Given the description of an element on the screen output the (x, y) to click on. 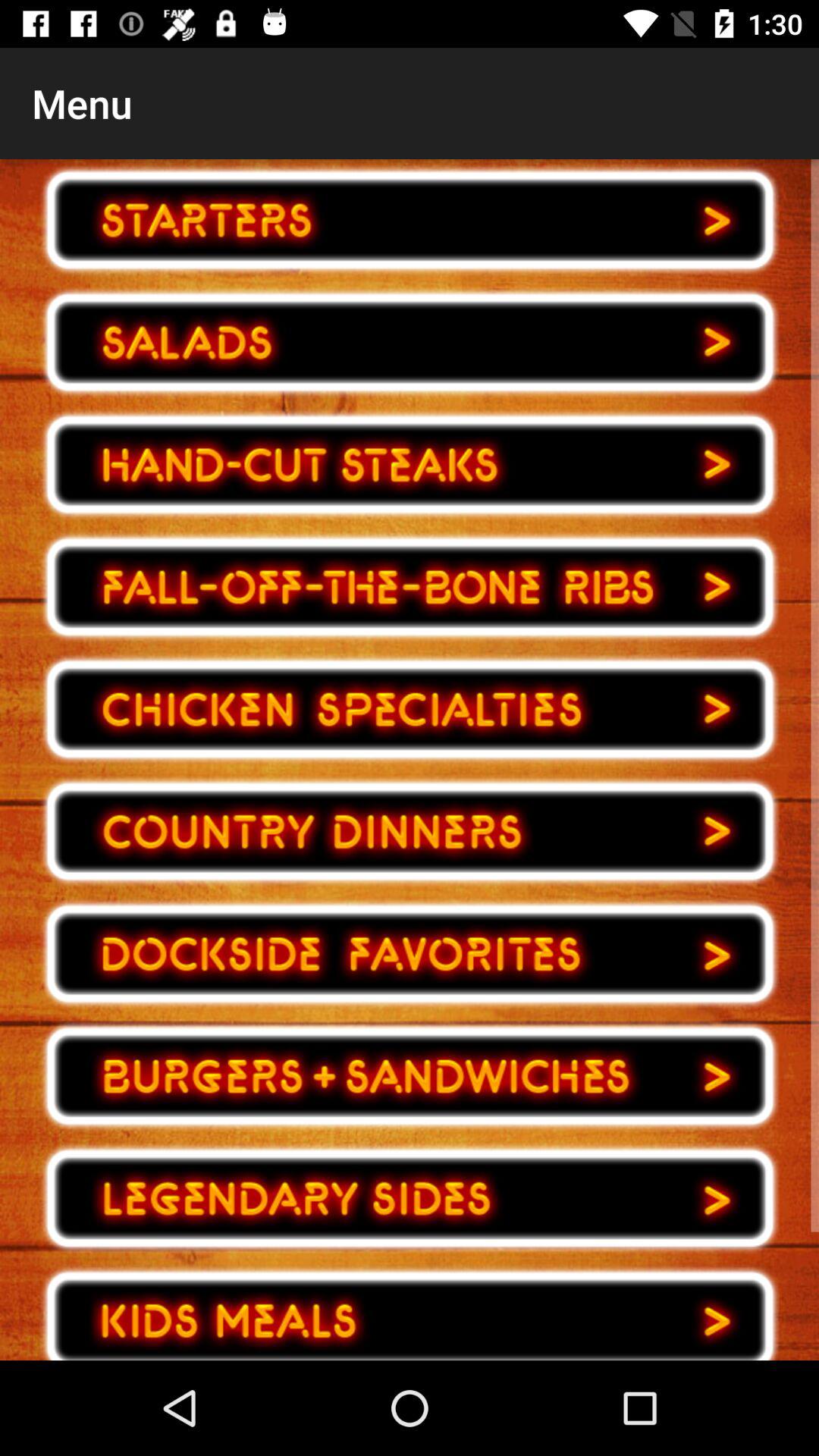
go back (409, 1076)
